Given the description of an element on the screen output the (x, y) to click on. 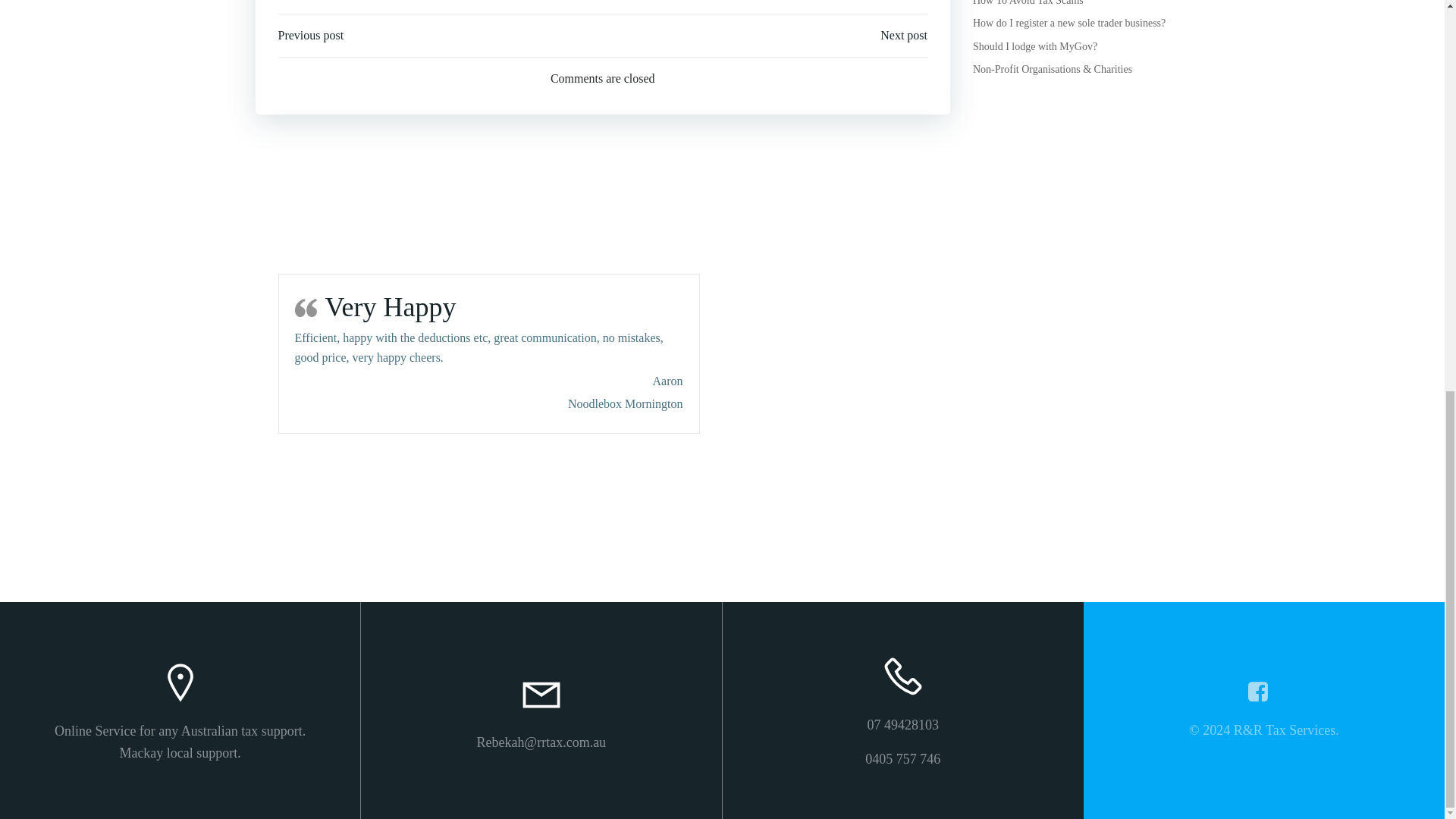
Previous post (310, 35)
Next post (903, 35)
How To Avoid Tax Scams (1027, 2)
Should I lodge with MyGov? (1034, 46)
How do I register a new sole trader business? (1069, 22)
